Given the description of an element on the screen output the (x, y) to click on. 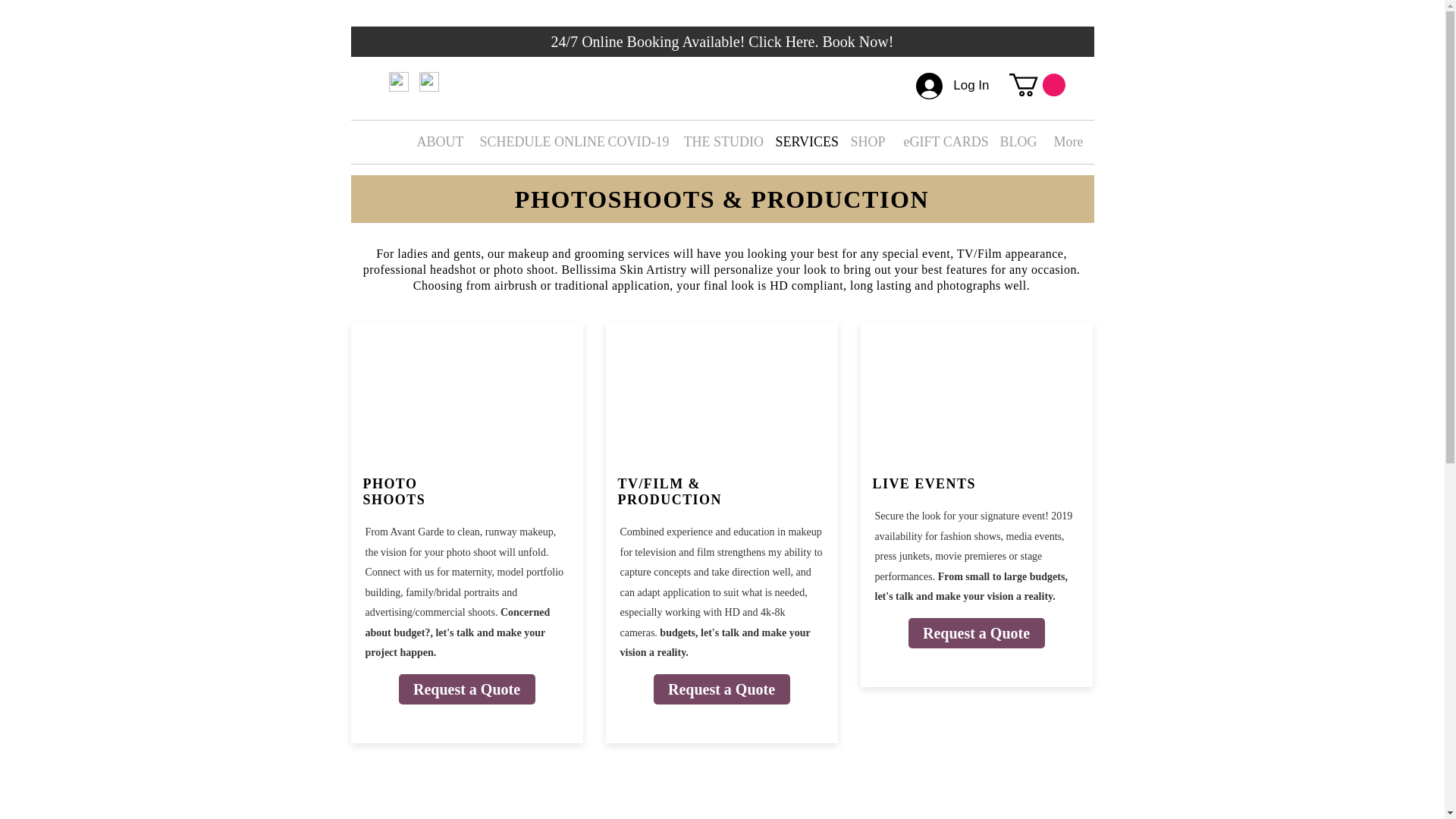
SHOP (864, 141)
Request a Quote (976, 633)
Log In (951, 85)
ABOUT (435, 141)
Request a Quote (466, 689)
THE STUDIO (716, 141)
Request a Quote (721, 689)
eGIFT CARDS (939, 141)
SCHEDULE ONLINE (532, 141)
COVID-19 (633, 141)
BLOG (1015, 141)
SERVICES (802, 141)
